Given the description of an element on the screen output the (x, y) to click on. 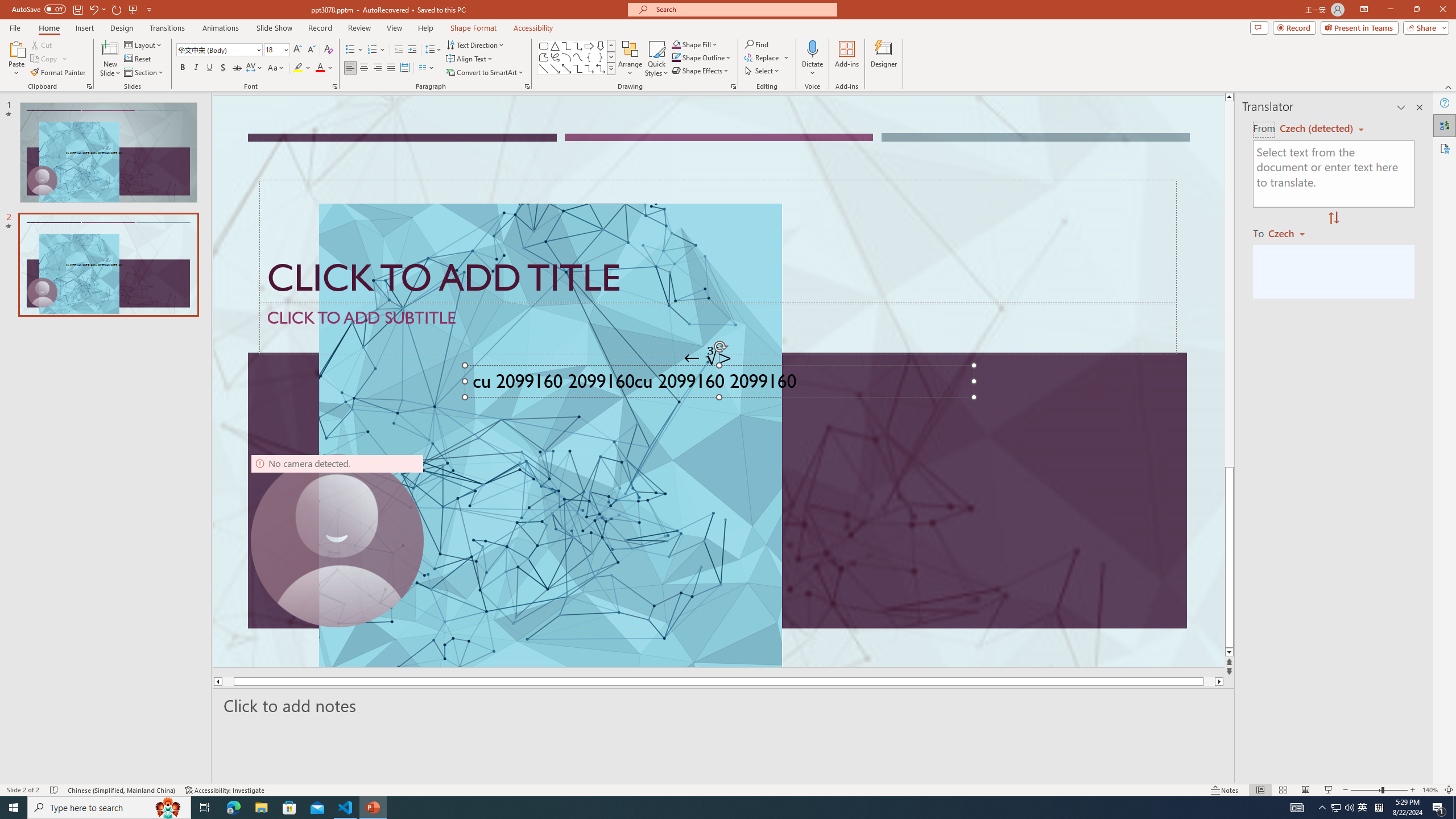
Zoom 140% (1430, 790)
Connector: Elbow Double-Arrow (600, 68)
Shape Outline Green, Accent 1 (675, 56)
